Given the description of an element on the screen output the (x, y) to click on. 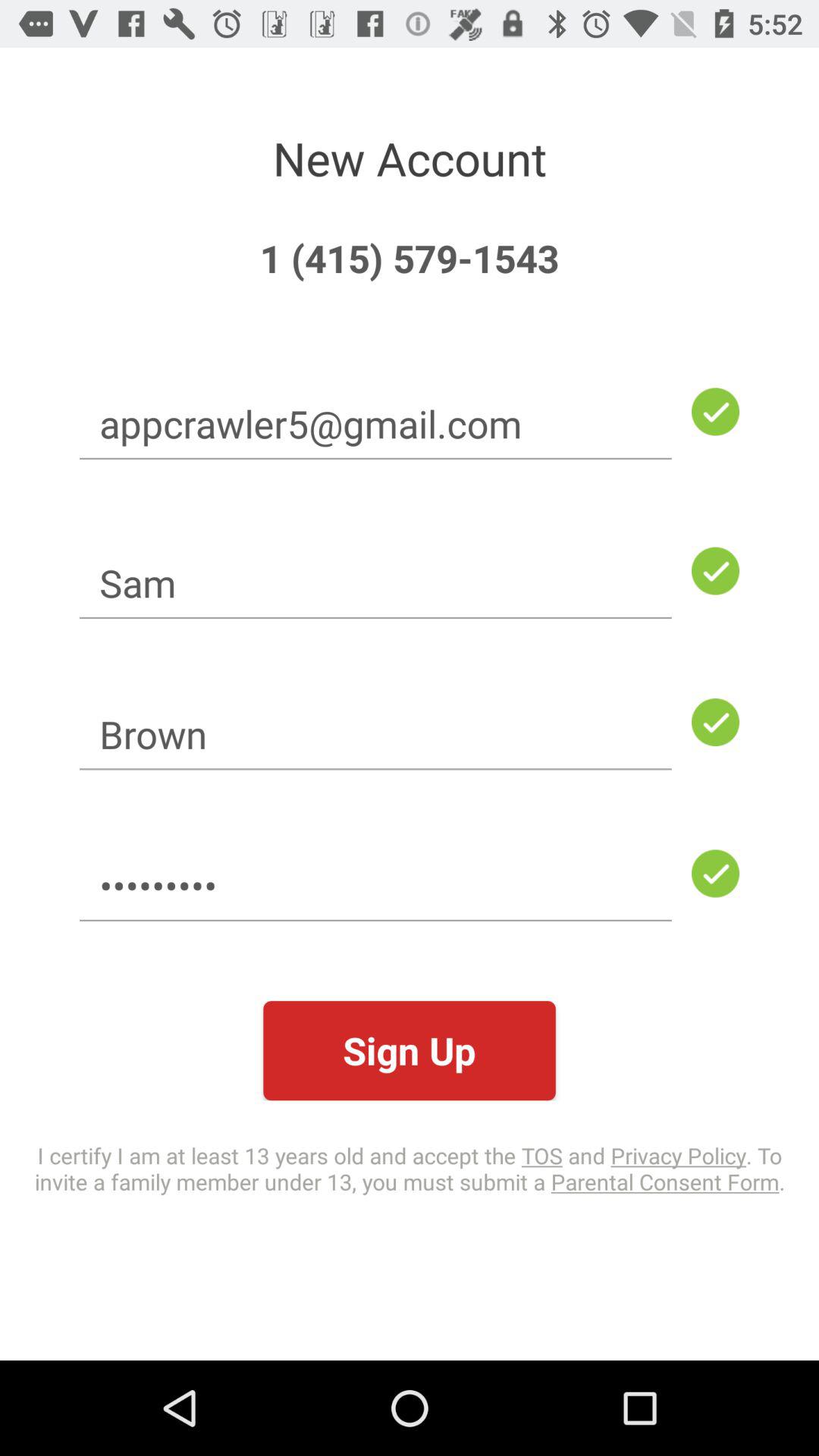
turn on appcrawler5@gmail.com (375, 423)
